Given the description of an element on the screen output the (x, y) to click on. 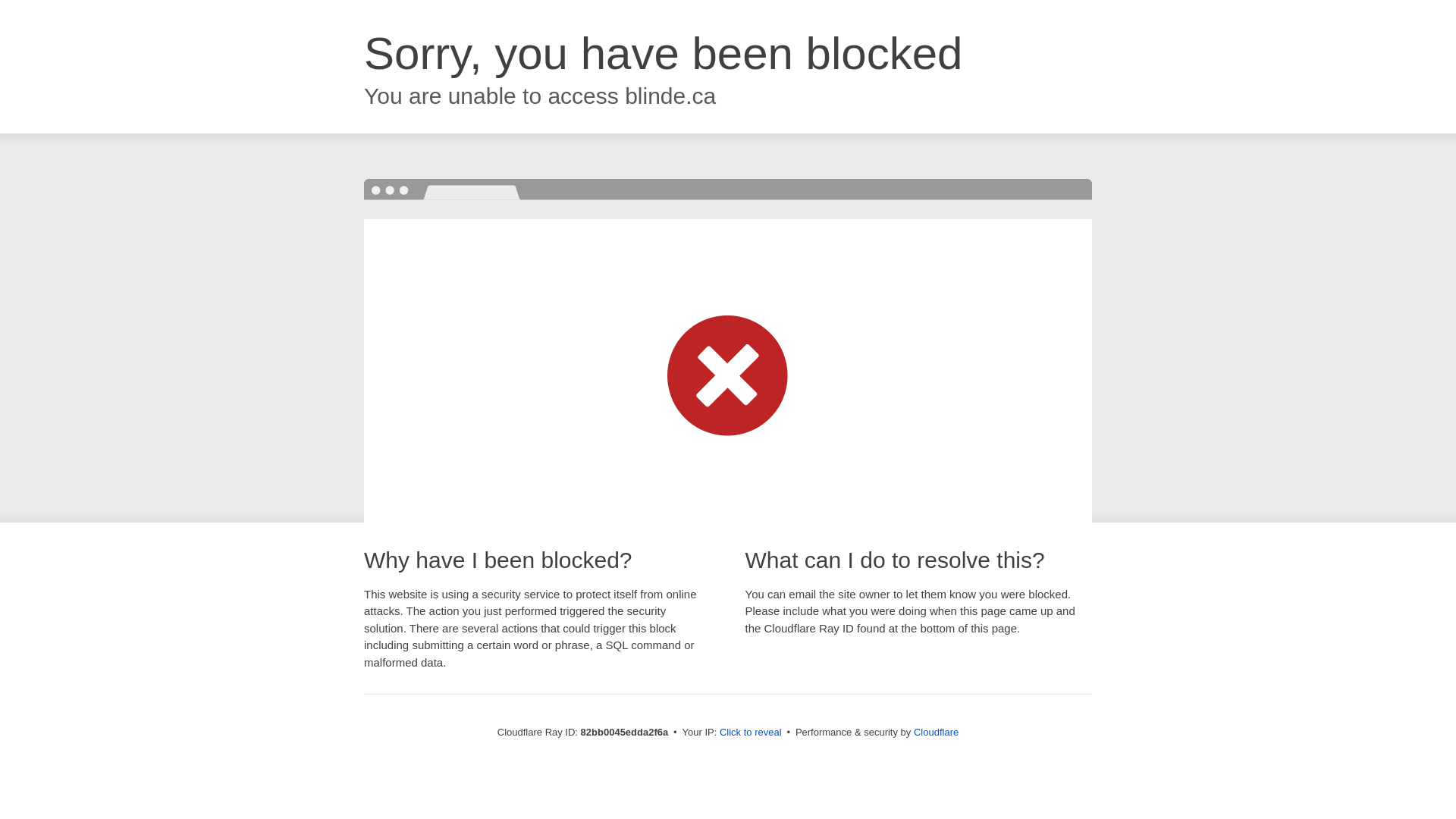
Cloudflare Element type: text (935, 731)
Click to reveal Element type: text (750, 732)
